Given the description of an element on the screen output the (x, y) to click on. 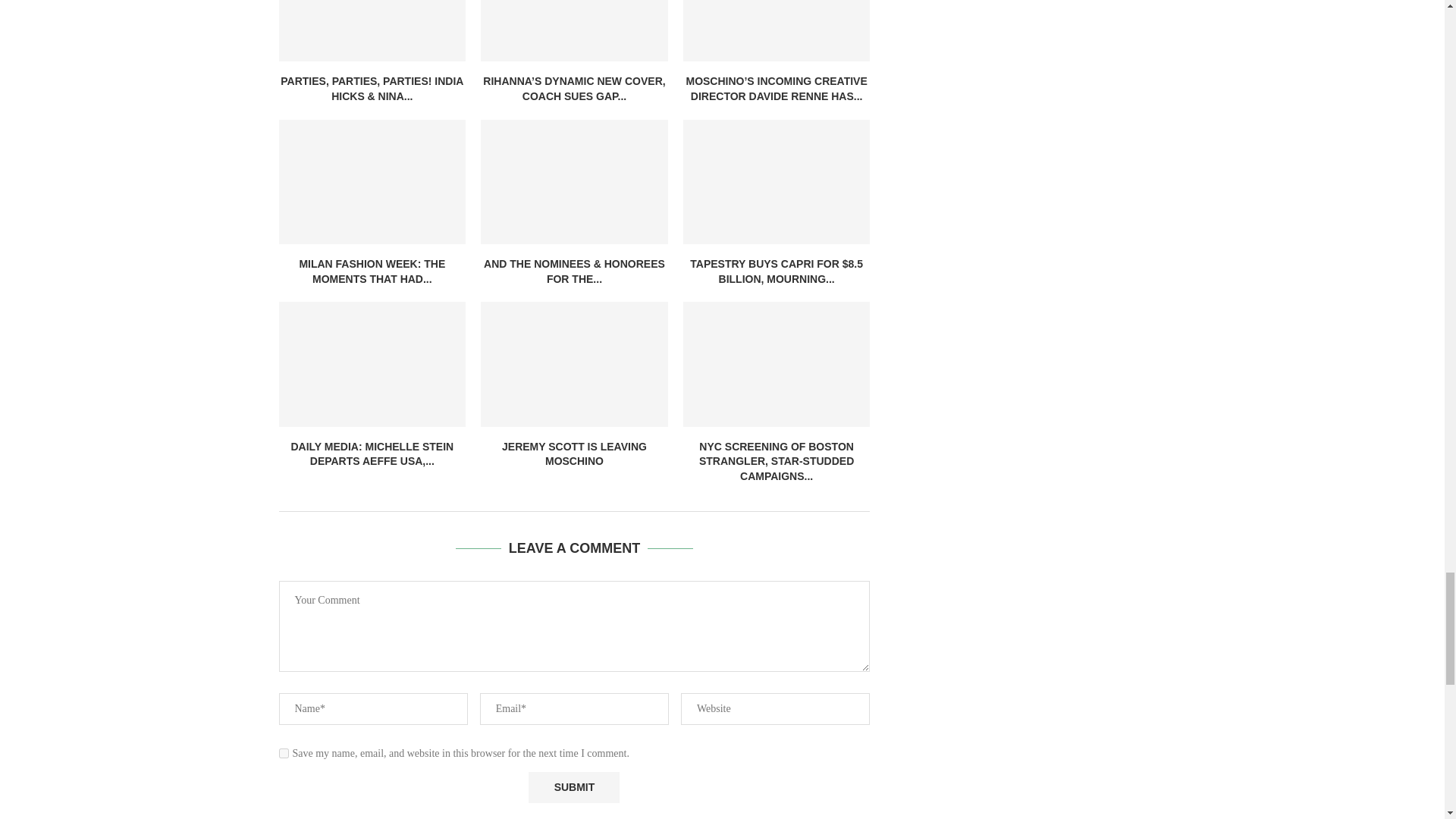
yes (283, 753)
Submit (574, 787)
Milan Fashion Week: The Moments That Had Everyone Talking (372, 181)
Jeremy Scott Is Leaving Moschino (574, 363)
